Given the description of an element on the screen output the (x, y) to click on. 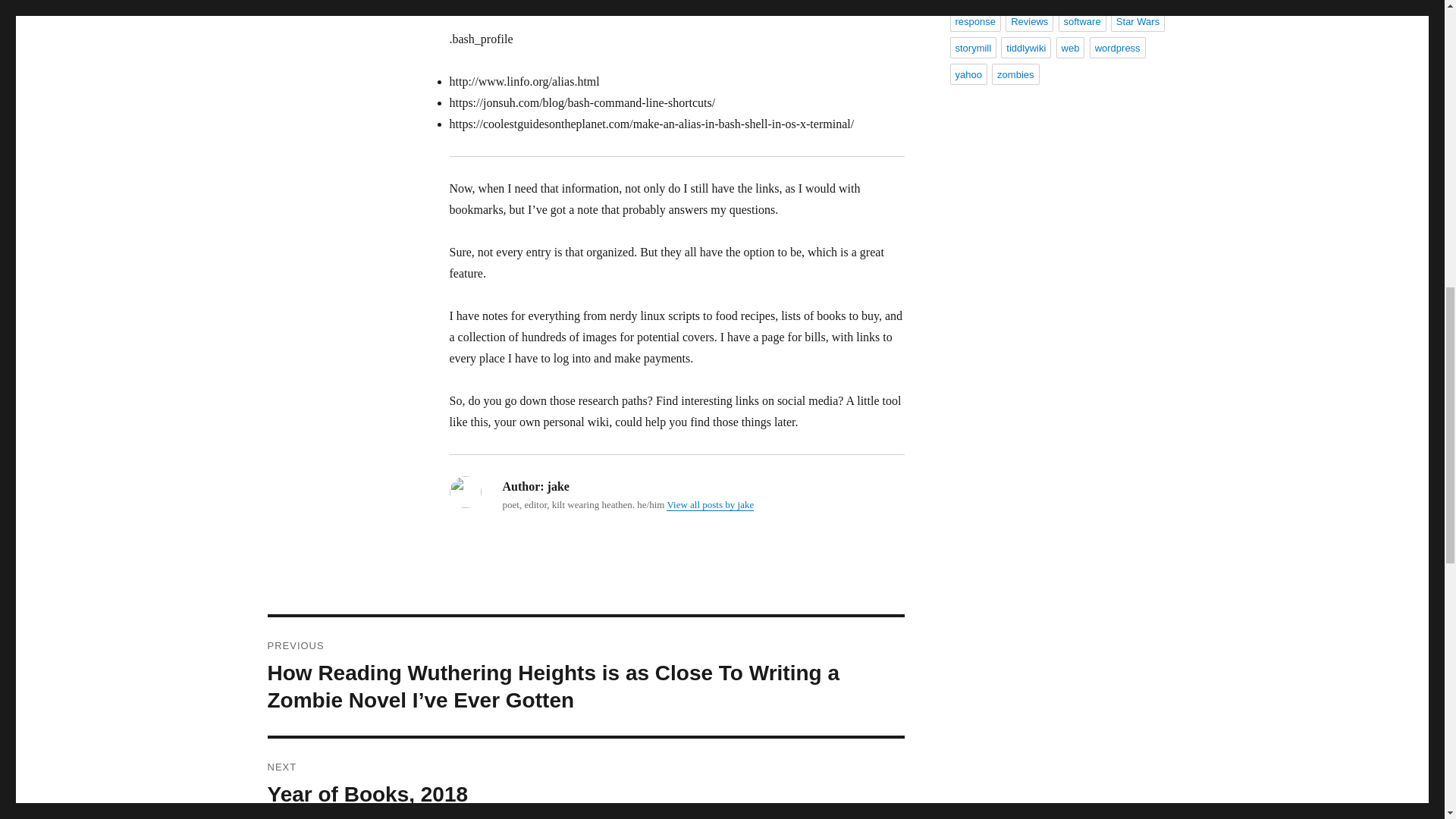
View all posts by jake (710, 504)
